Given the description of an element on the screen output the (x, y) to click on. 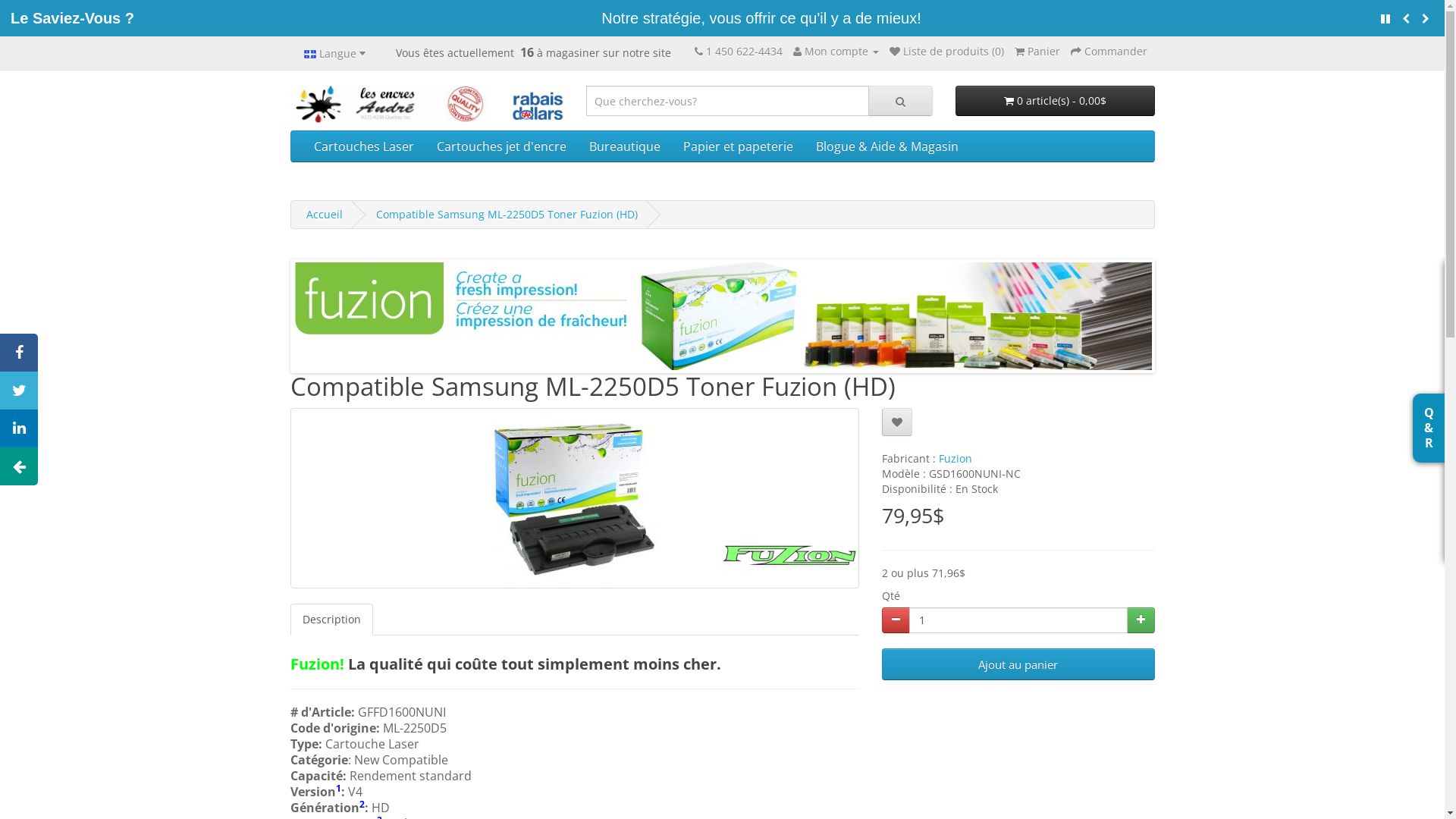
Langue Element type: text (334, 53)
Mon compte Element type: text (835, 50)
0 article(s) - 0,00$ Element type: text (1054, 100)
Panier Element type: text (1037, 50)
Cartouches Laser Element type: text (362, 146)
Blogue & Aide & Magasin Element type: text (886, 146)
Fuzion Element type: text (955, 458)
Papier et papeterie Element type: text (737, 146)
Compatible Samsung ML-2250D5 Toner Fuzion (HD) Element type: text (506, 214)
Ajout au panier Element type: text (1017, 664)
Description Element type: text (330, 619)
Accueil Element type: text (324, 214)
Commander Element type: text (1108, 50)
Liste de produits (0) Element type: text (945, 50)
Cartouches jet d'encre Element type: text (500, 146)
Compatible Samsung ML-2250D5 Toner Fuzion (HD) Element type: hover (574, 497)
1 450 622-4434 Element type: text (743, 50)
Compatible Samsung ML-2250D5 Toner Fuzion (HD) Element type: hover (573, 497)
Bureautique Element type: text (624, 146)
